Given the description of an element on the screen output the (x, y) to click on. 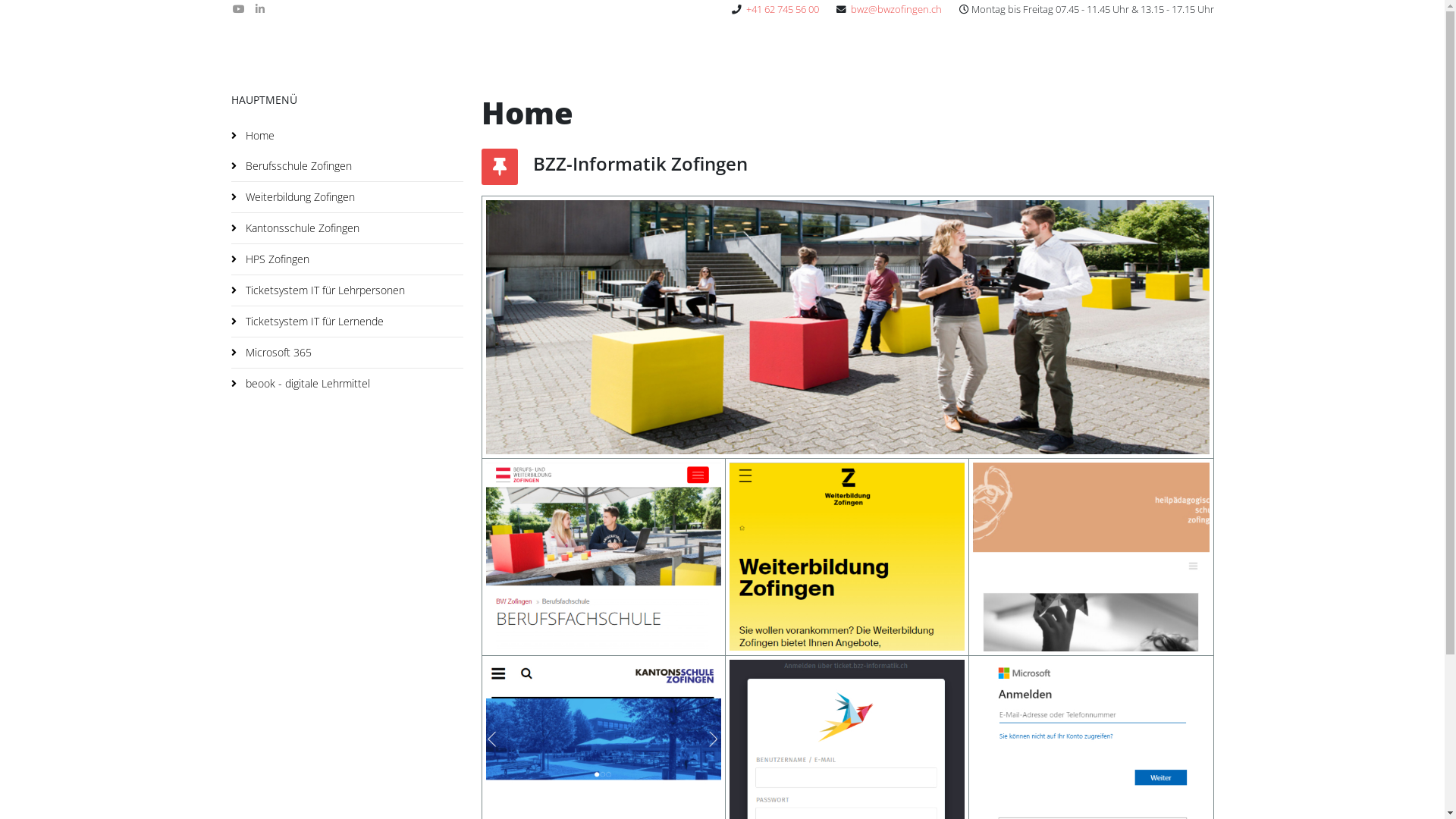
HPS Zofingen Element type: text (346, 259)
+41 62 745 56 00 Element type: text (782, 9)
Microsoft 365 Element type: text (346, 352)
beook - digitale Lehrmittel Element type: text (346, 383)
Berufsschule Zofingen Element type: text (346, 165)
bwz@bwzofingen.ch Element type: text (895, 9)
Weiterbildung Zofingen Element type: text (346, 197)
Home Element type: text (346, 135)
Kantonsschule Zofingen Element type: text (346, 228)
